Given the description of an element on the screen output the (x, y) to click on. 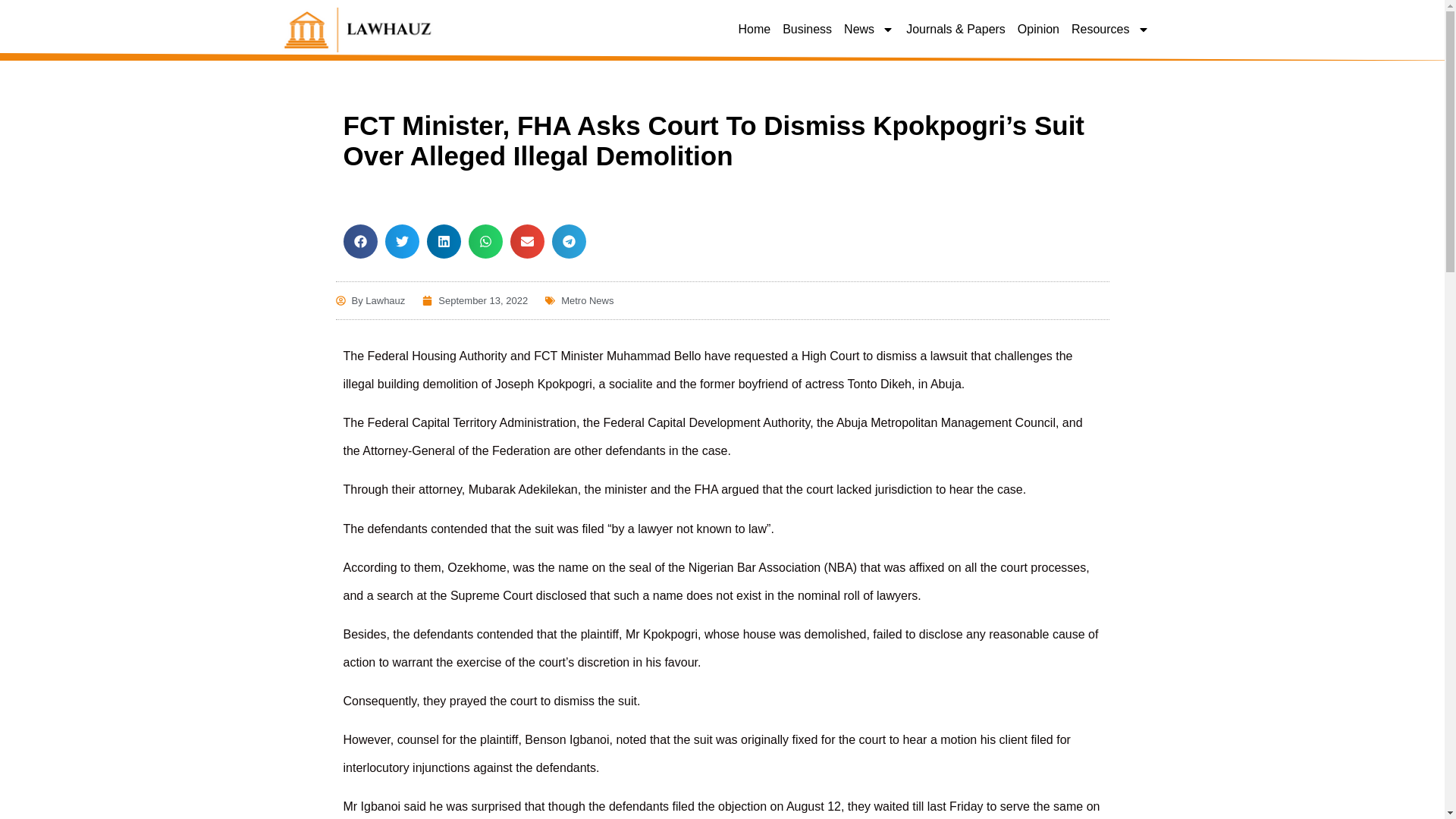
News (868, 29)
Home (754, 29)
Opinion (1037, 29)
Business (807, 29)
Resources (1109, 29)
